Given the description of an element on the screen output the (x, y) to click on. 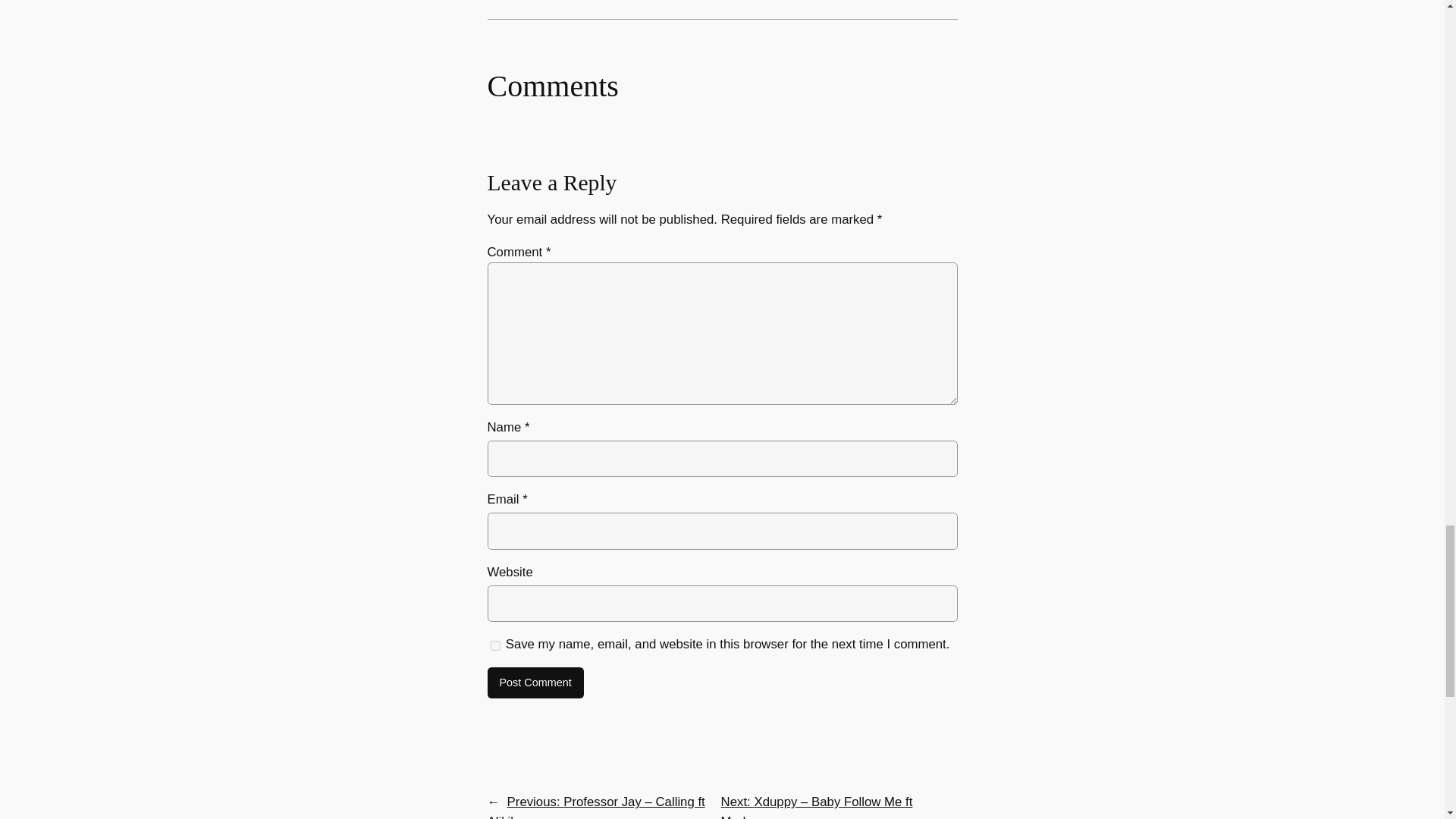
Post Comment (534, 683)
Post Comment (534, 683)
yes (494, 645)
